Given the description of an element on the screen output the (x, y) to click on. 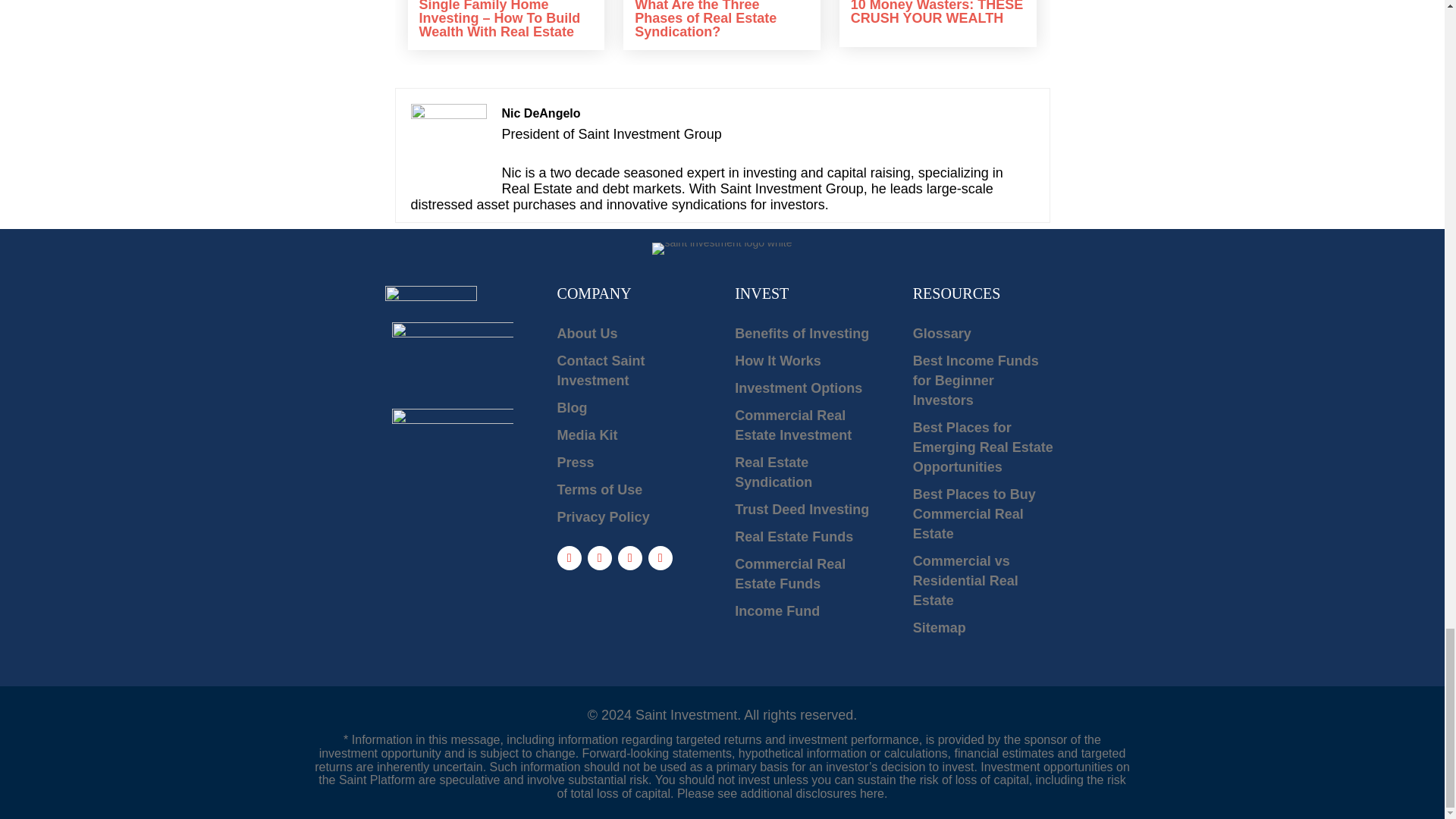
Forbes-04 (452, 469)
Follow on Facebook (568, 558)
bbb-rating (452, 356)
logo-white-e1667815921866 (722, 248)
